Given the description of an element on the screen output the (x, y) to click on. 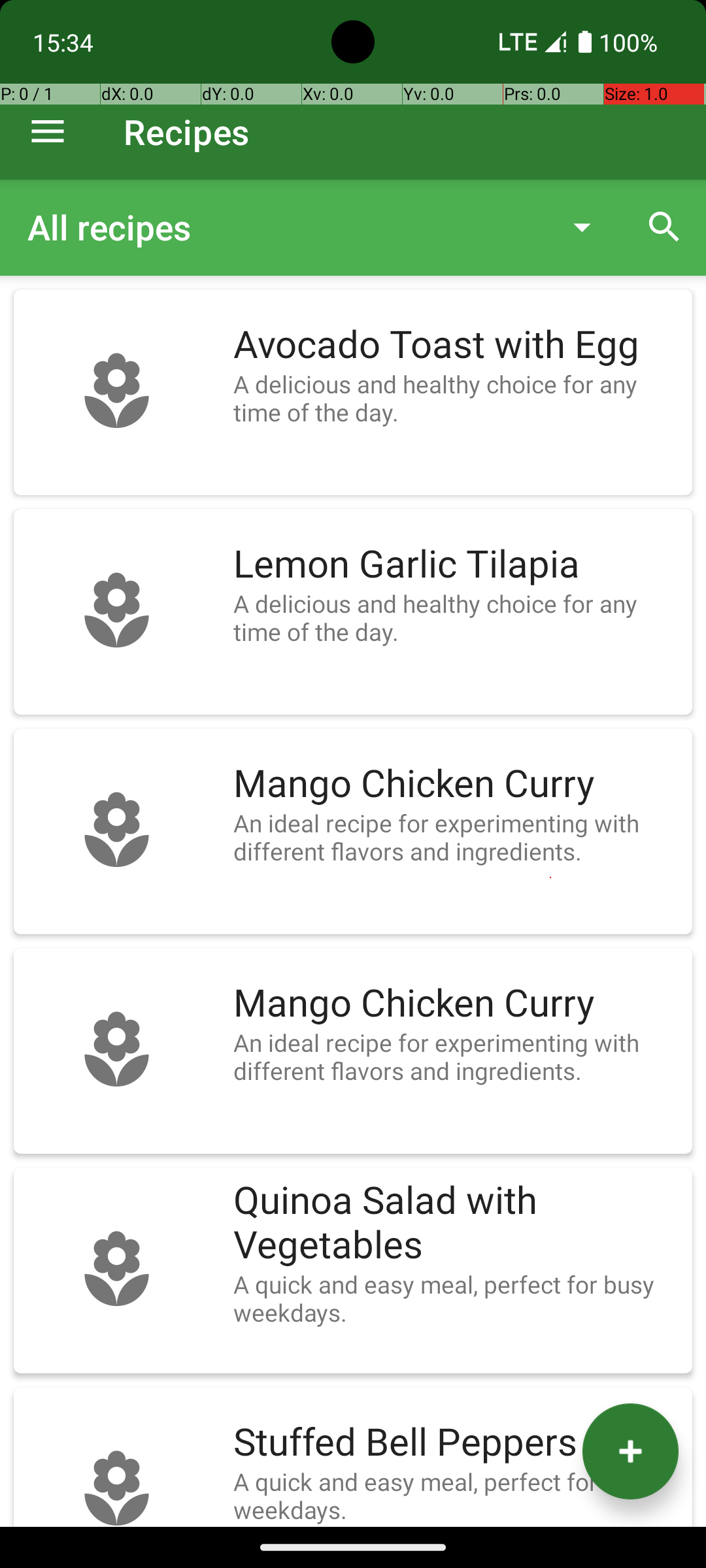
Mango Chicken Curry Element type: android.widget.TextView (455, 783)
Stuffed Bell Peppers Element type: android.widget.TextView (455, 1442)
